Given the description of an element on the screen output the (x, y) to click on. 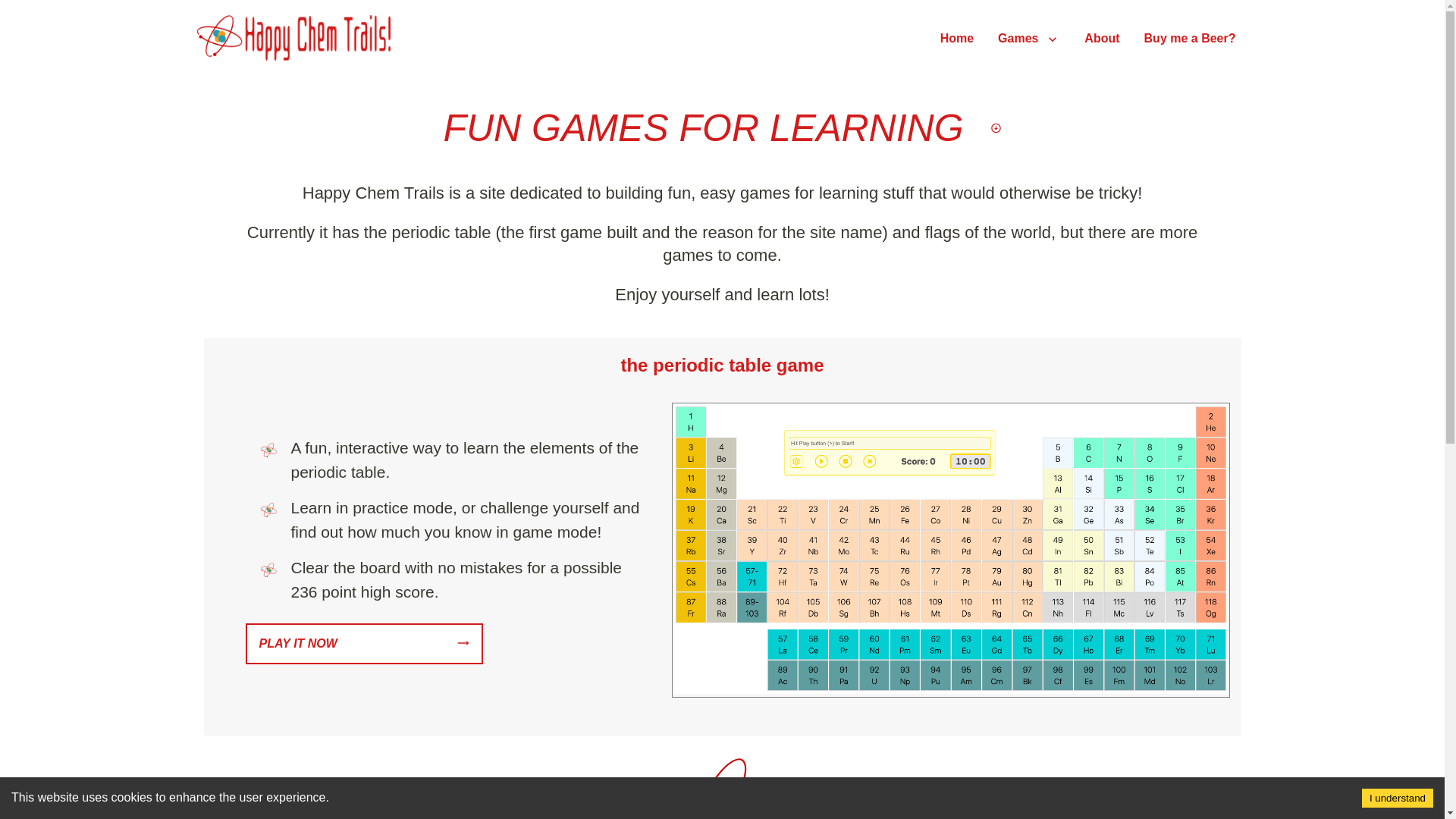
Buy me a Beer? (1189, 39)
Home (956, 39)
About (1101, 39)
Games   (1028, 39)
I understand (1396, 797)
